Given the description of an element on the screen output the (x, y) to click on. 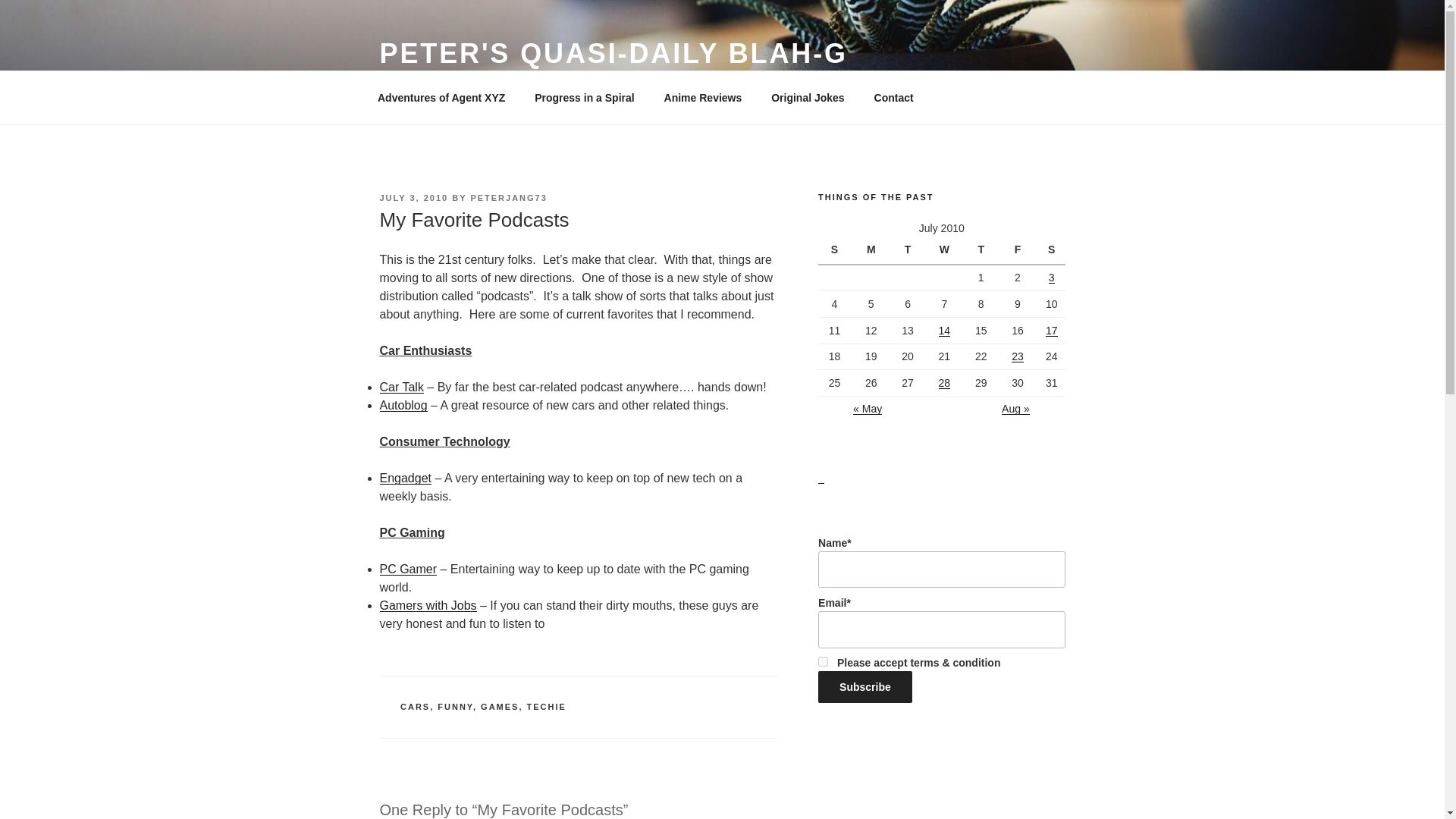
Monday (872, 250)
Adventures of Agent XYZ (441, 97)
Original Jokes (807, 97)
14 (944, 330)
Autoblog (402, 404)
FUNNY (455, 706)
JULY 3, 2010 (413, 197)
GAMES (499, 706)
23 (1017, 356)
Saturday (1051, 250)
